Given the description of an element on the screen output the (x, y) to click on. 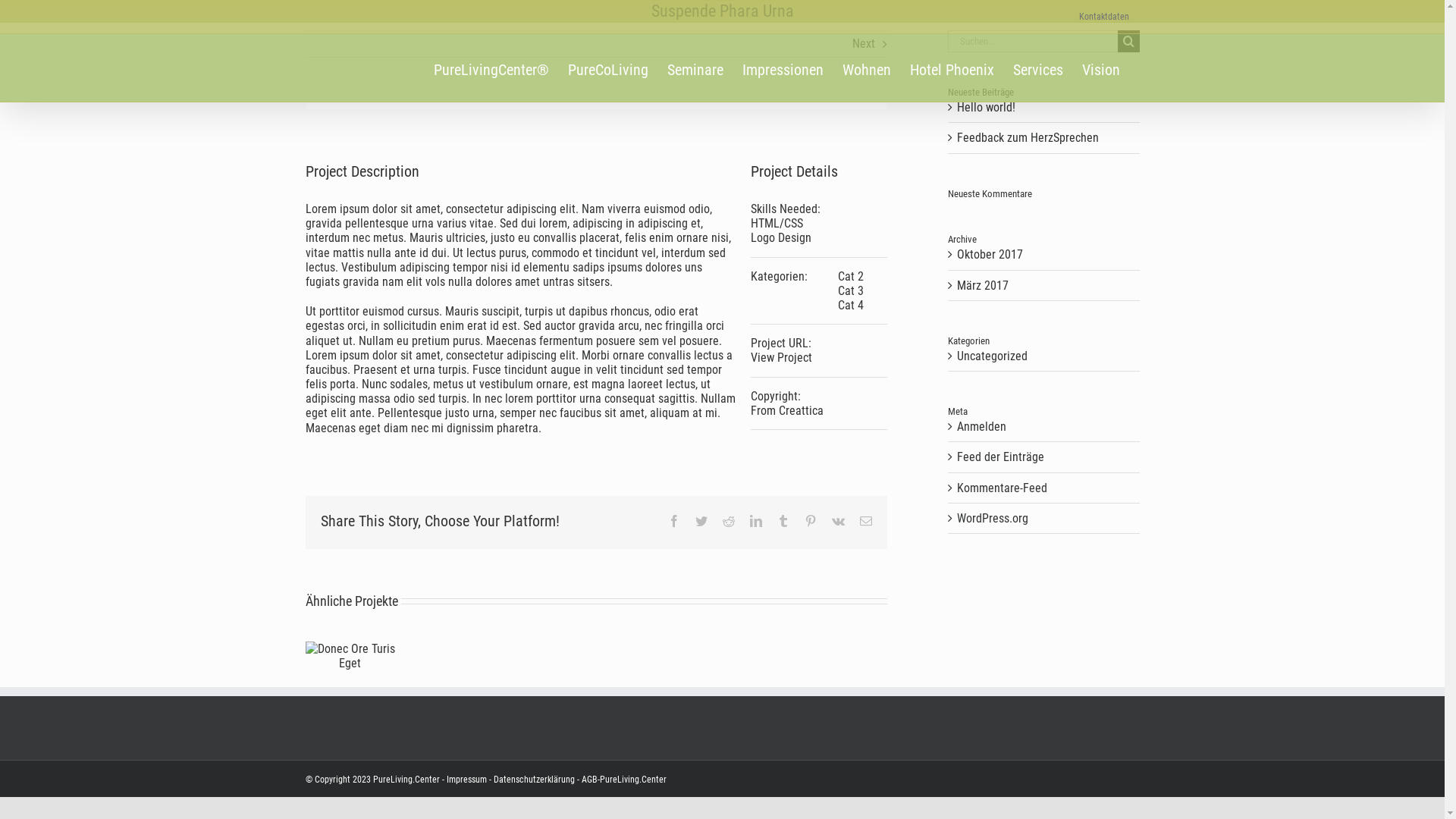
Vision Element type: text (1100, 67)
From Creattica Element type: text (786, 410)
Kommentare-Feed Element type: text (1002, 487)
AGB-PureLiving.Center Element type: text (622, 779)
Twitter Element type: text (700, 520)
Tumblr Element type: text (782, 520)
Cat 4 Element type: text (850, 305)
Oktober 2017 Element type: text (989, 254)
Pinterest Element type: text (809, 520)
Wohnen Element type: text (865, 67)
WordPress.org Element type: text (992, 518)
View Project Element type: text (781, 357)
Impressionen Element type: text (781, 67)
PureLiving.Center Element type: text (406, 779)
Cat 3 Element type: text (850, 290)
Facebook Element type: text (673, 520)
Hotel Phoenix Element type: text (952, 67)
LinkedIn Element type: text (755, 520)
Impressum Element type: text (465, 779)
Next Element type: text (863, 43)
E-Mail Element type: text (865, 520)
Feedback zum HerzSprechen Element type: text (1027, 137)
Services Element type: text (1038, 67)
Kontaktdaten Element type: text (1104, 16)
Uncategorized Element type: text (1044, 355)
Hello world! Element type: text (986, 107)
Seminare Element type: text (695, 67)
Vk Element type: text (837, 520)
Cat 2 Element type: text (850, 276)
Anmelden Element type: text (981, 426)
HTML/CSS Element type: text (776, 223)
Logo Design Element type: text (780, 237)
PureCoLiving Element type: text (607, 67)
Reddit Element type: text (727, 520)
